Given the description of an element on the screen output the (x, y) to click on. 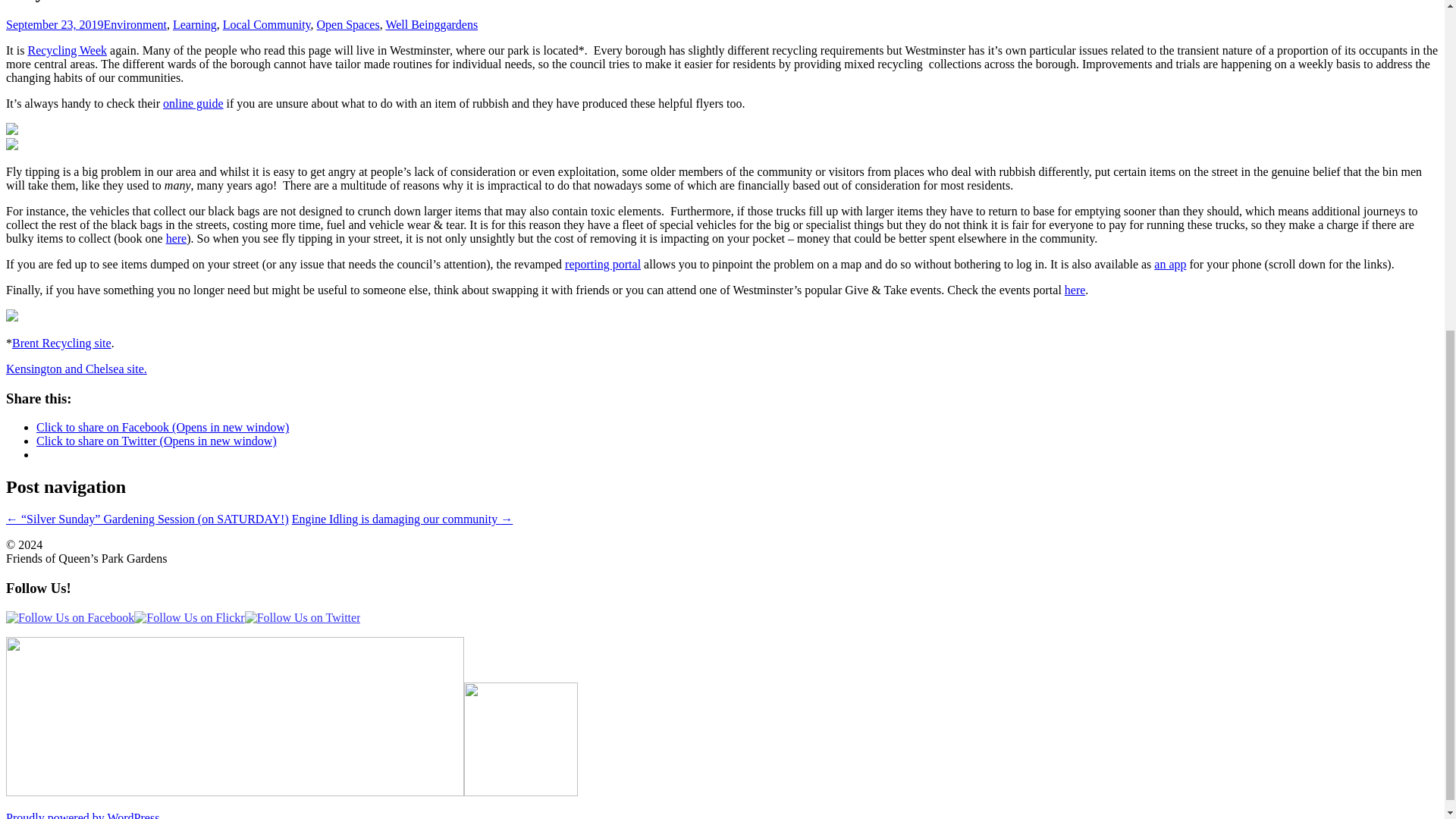
Click to share on Facebook (162, 427)
View all posts by gardens (458, 24)
Permalink to Recycle Week 2019 (54, 24)
Click to share on Twitter (156, 440)
September 23, 2019 (54, 24)
Follow Us on Facebook (69, 617)
Follow Us on Flickr (188, 617)
Environment (135, 24)
Follow Us on Twitter (302, 617)
